Given the description of an element on the screen output the (x, y) to click on. 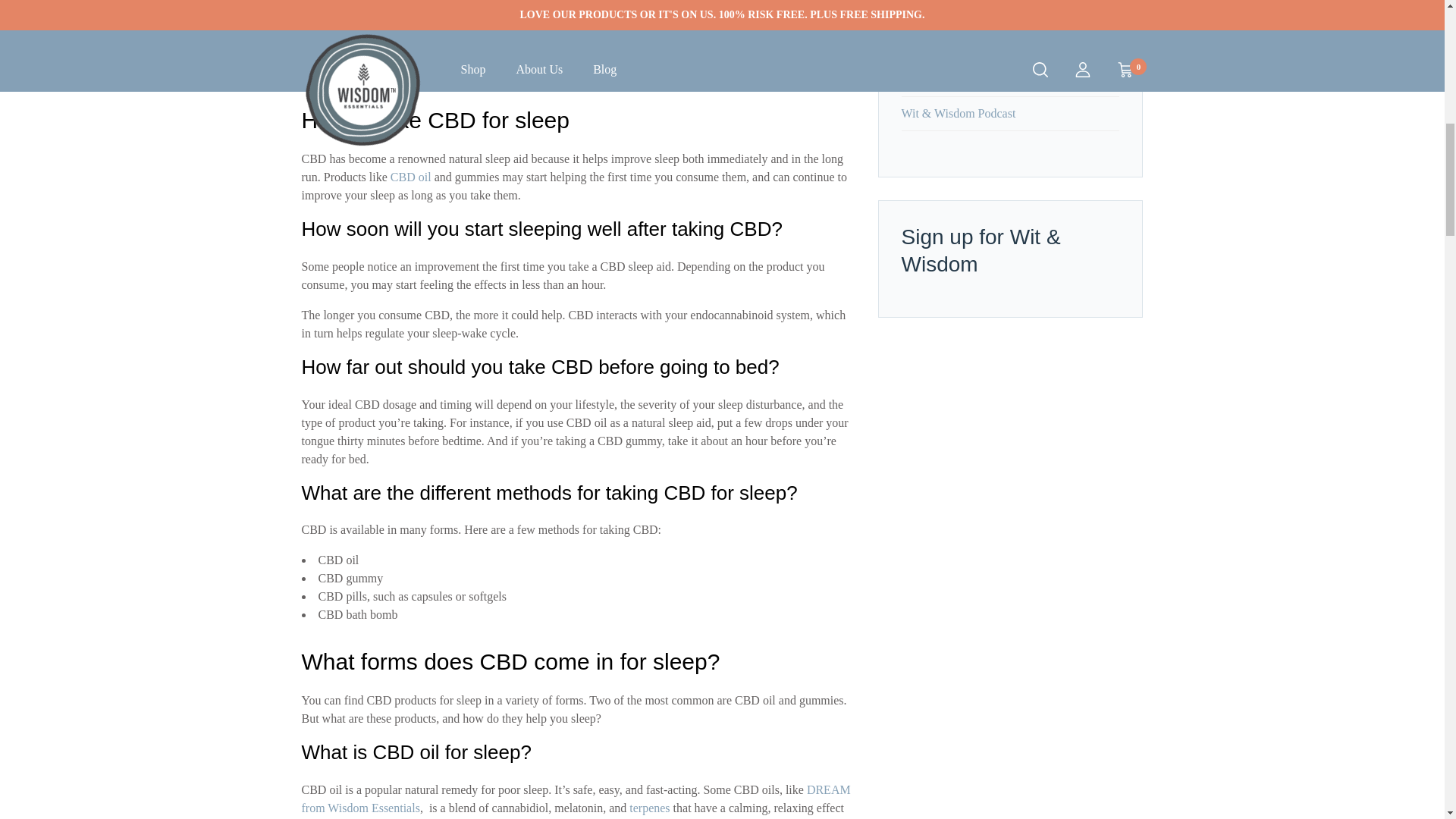
terpenes (648, 807)
DREAM from Wisdom Essentials (575, 798)
CBD oil (410, 176)
sleep (358, 83)
